Given the description of an element on the screen output the (x, y) to click on. 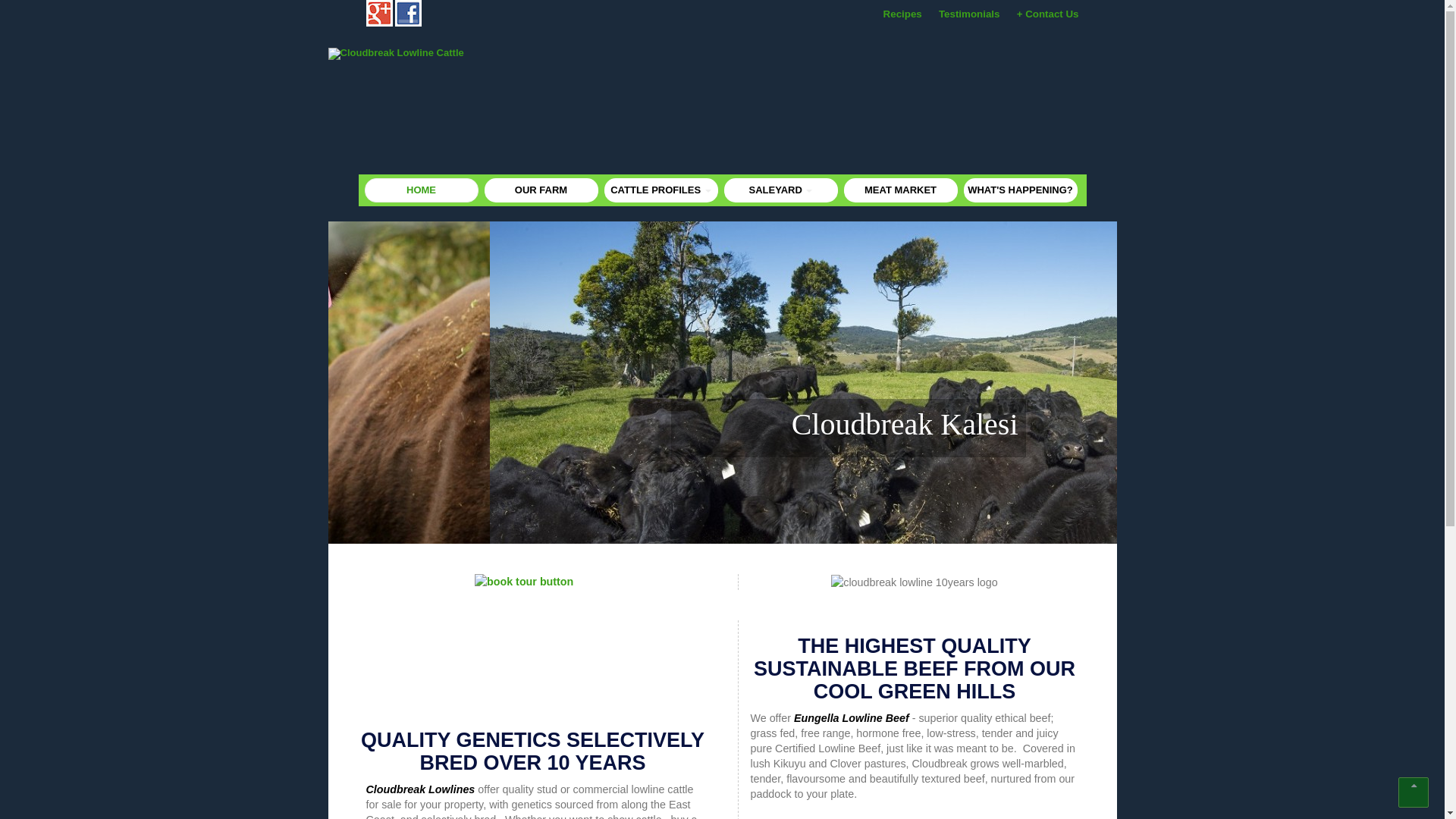
Recipes Element type: text (902, 13)
SALEYARD Element type: text (780, 190)
WHAT'S HAPPENING? Element type: text (1019, 190)
MEAT MARKET Element type: text (900, 190)
+ Contact Us Element type: text (1047, 13)
OUR FARM Element type: text (540, 190)
Testimonials Element type: text (968, 13)
CATTLE PROFILES Element type: text (660, 190)
Cloudbreak Lowline Cattle Element type: hover (410, 53)
HOME Element type: text (420, 190)
